Given the description of an element on the screen output the (x, y) to click on. 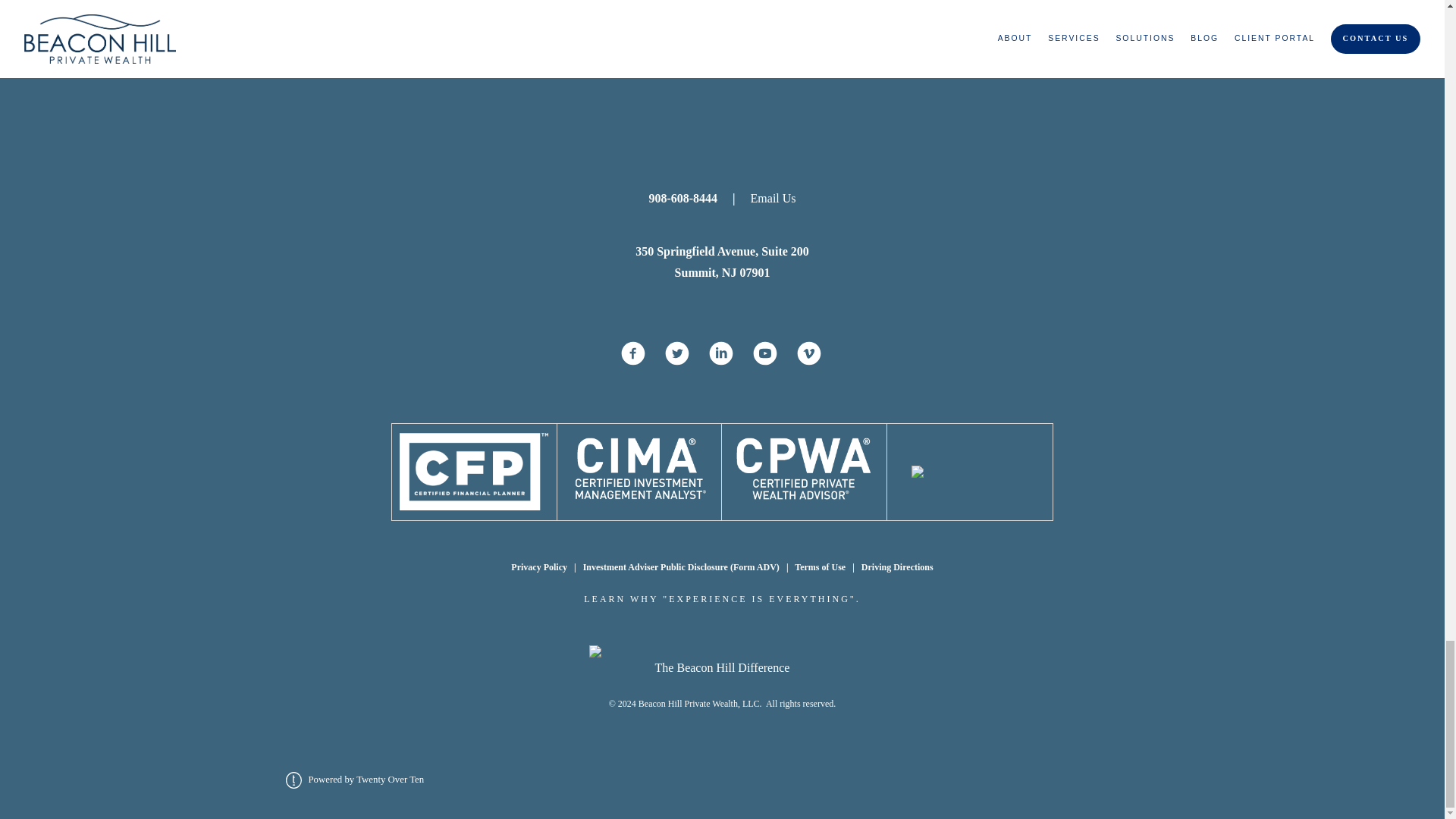
Powered by Twenty Over Ten (354, 778)
Terms of Use (819, 566)
     Email Us (765, 197)
